Given the description of an element on the screen output the (x, y) to click on. 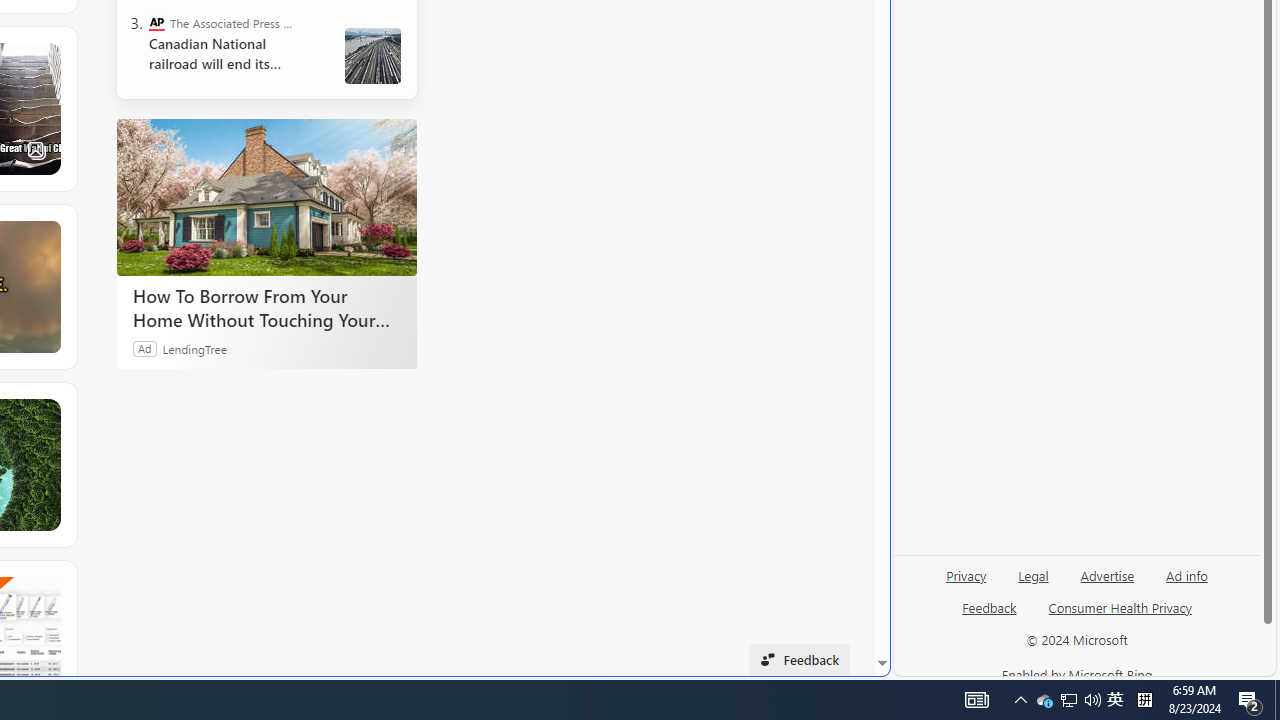
LendingTree (194, 348)
